Given the description of an element on the screen output the (x, y) to click on. 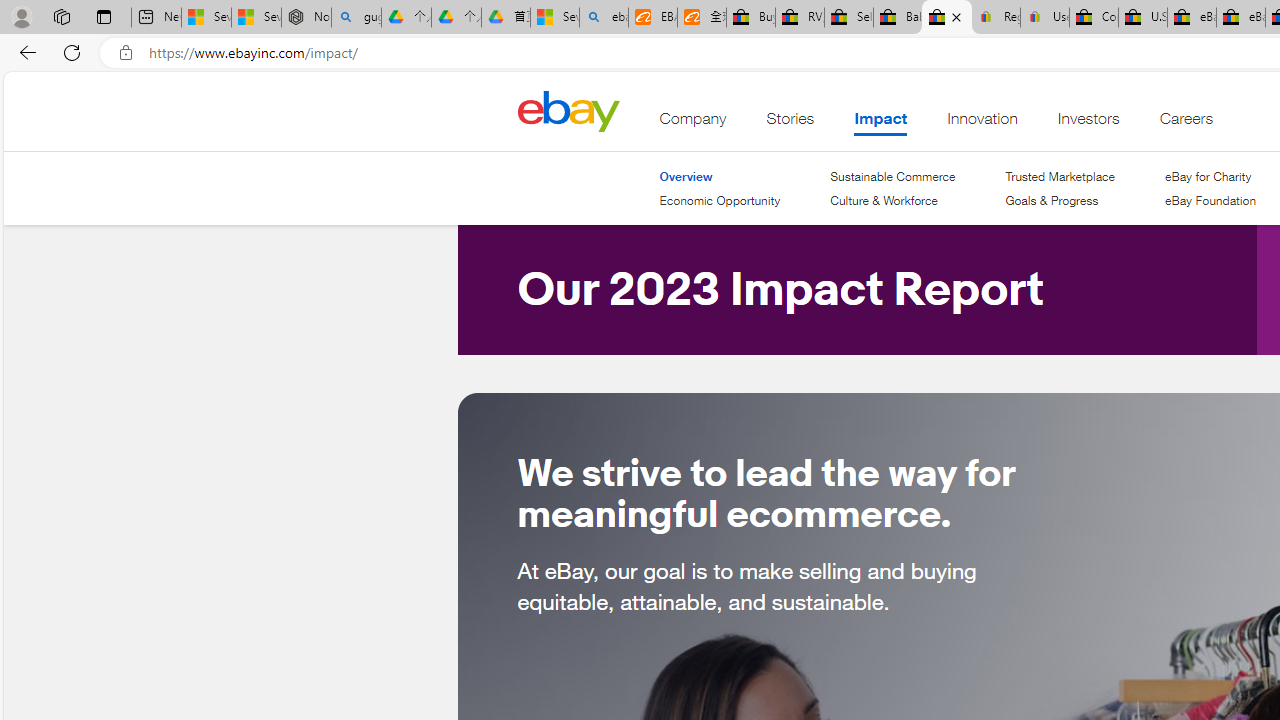
Trusted Marketplace (1059, 176)
Overview (719, 176)
eBay for Charity (1207, 176)
eBay Foundation (1209, 200)
Sustainable Commerce (892, 176)
Personal Profile (21, 16)
Consumer Health Data Privacy Policy - eBay Inc. (1093, 17)
Goals & Progress (1059, 201)
View site information (125, 53)
User Privacy Notice | eBay (1044, 17)
